Given the description of an element on the screen output the (x, y) to click on. 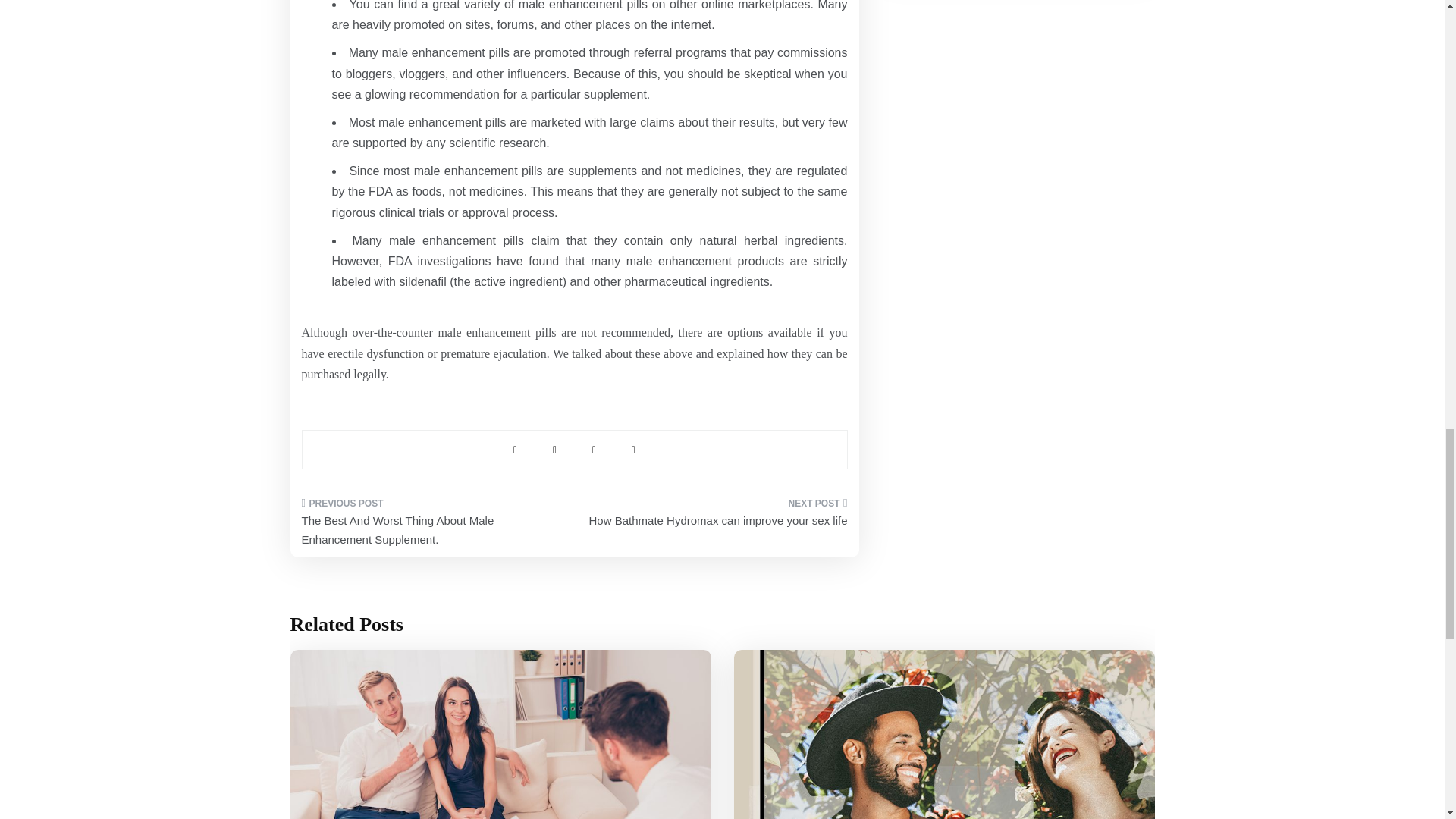
How Bathmate Hydromax can improve your sex life (716, 517)
The Best And Worst Thing About Male Enhancement Supplement. (432, 526)
